Given the description of an element on the screen output the (x, y) to click on. 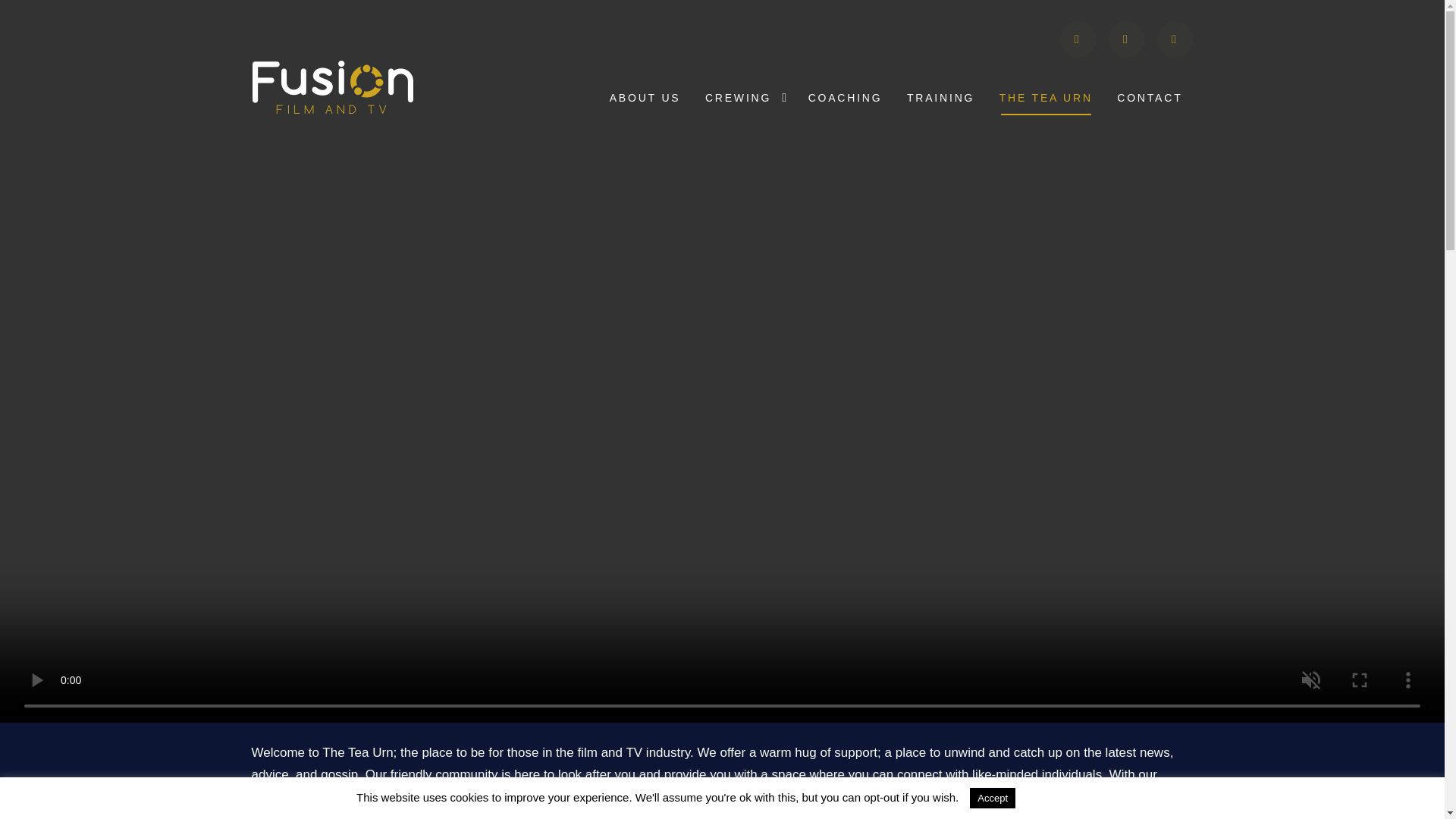
COACHING (845, 98)
THE TEA URN (1045, 98)
ABOUT US (644, 98)
Fusion Film And TV (332, 87)
CREWING (737, 98)
Follow Us On Facebook (1126, 39)
Linked-in (1175, 39)
CONTACT (1149, 98)
TRAINING (940, 98)
Instagram (1077, 39)
